Given the description of an element on the screen output the (x, y) to click on. 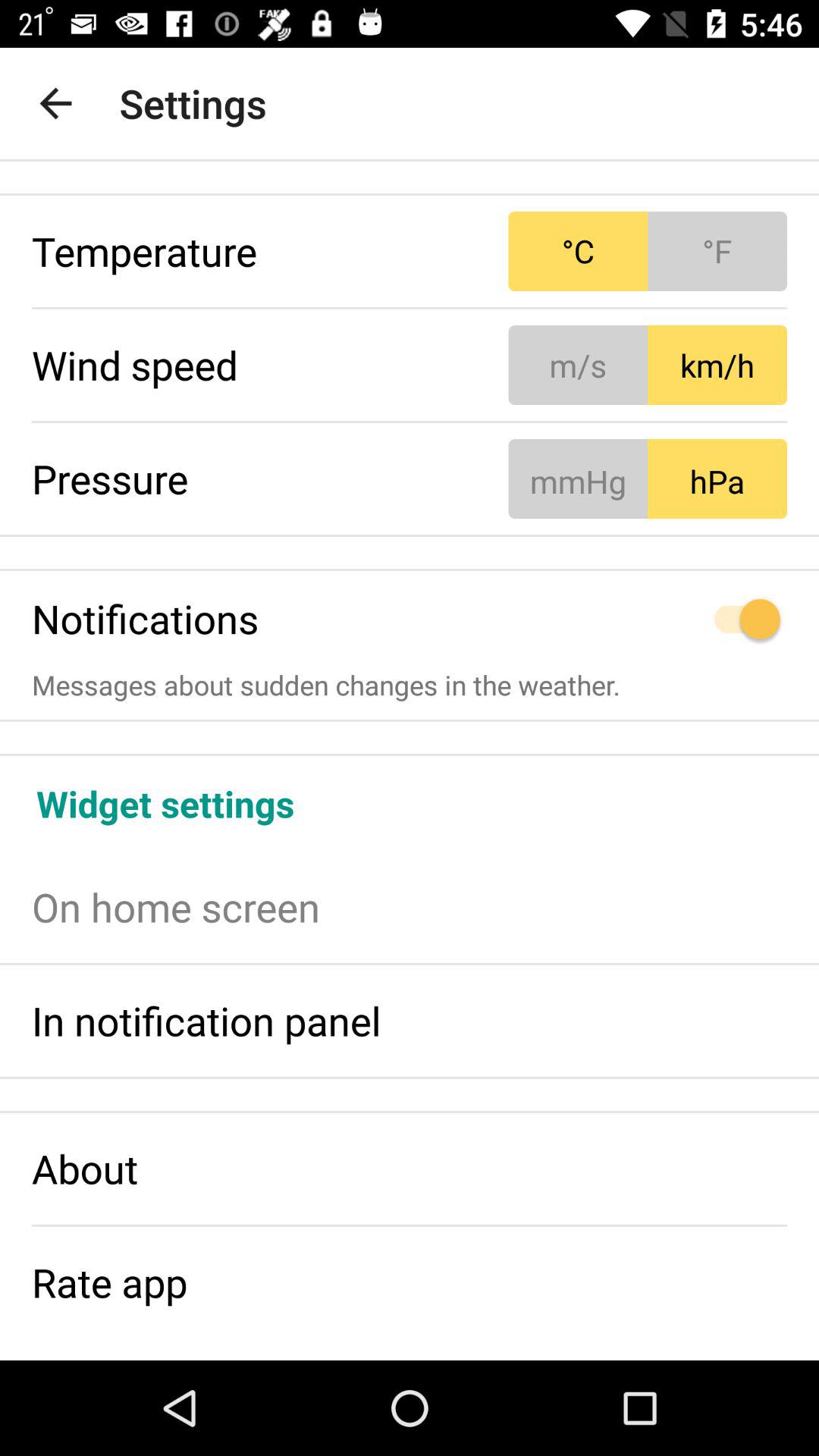
click the item next to wind speed icon (647, 364)
